Given the description of an element on the screen output the (x, y) to click on. 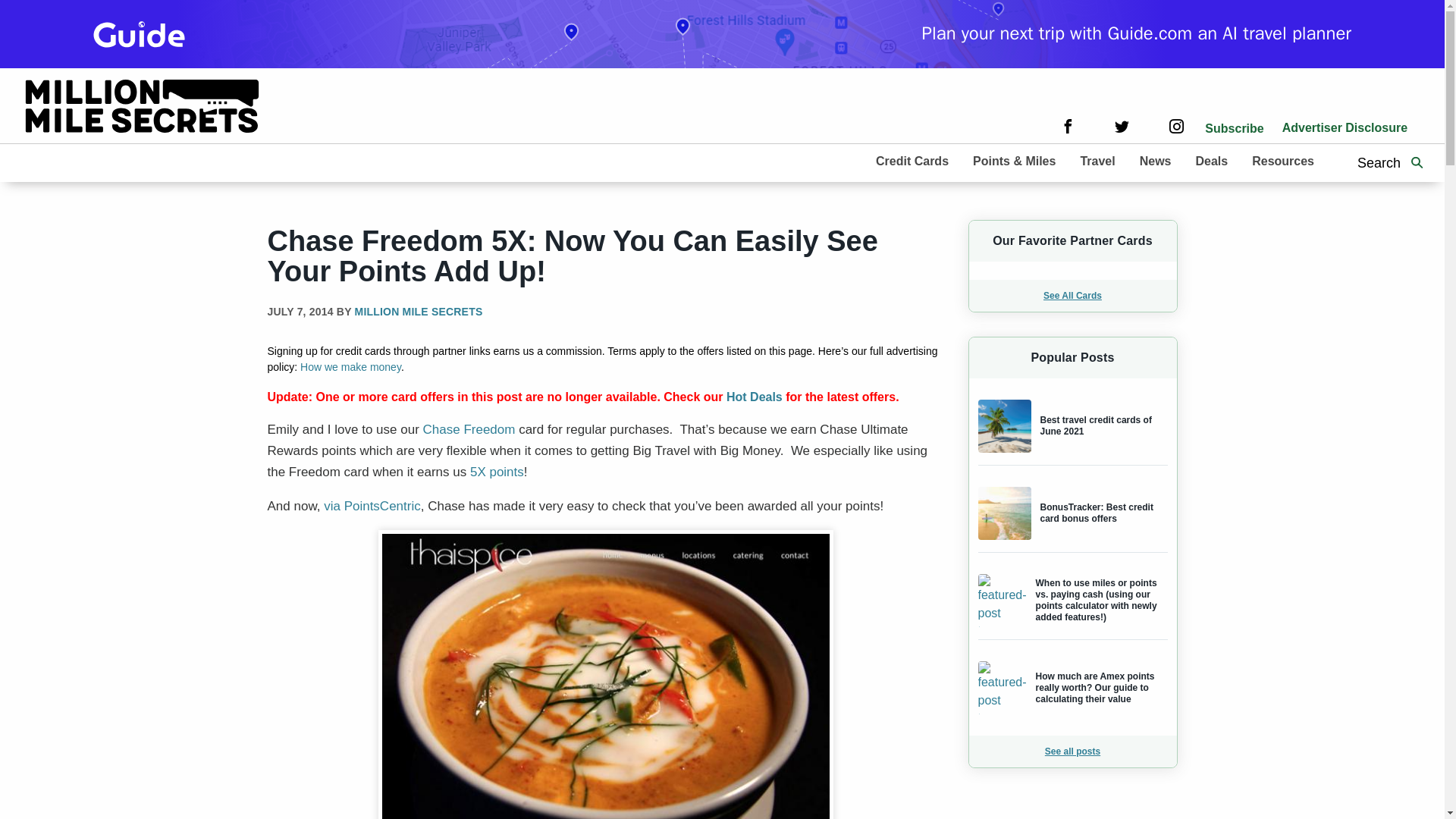
Subscribe (1234, 128)
MILLION MILE SECRETS (419, 311)
Chase Freedom 5X Now You Can Easily See Your Points Add Up (605, 676)
News (1154, 160)
mms-logo-2 (142, 108)
Resources (1283, 160)
Search (1417, 162)
mms-logo-2 (142, 105)
Hot Deals (754, 396)
Deals (1211, 160)
